Given the description of an element on the screen output the (x, y) to click on. 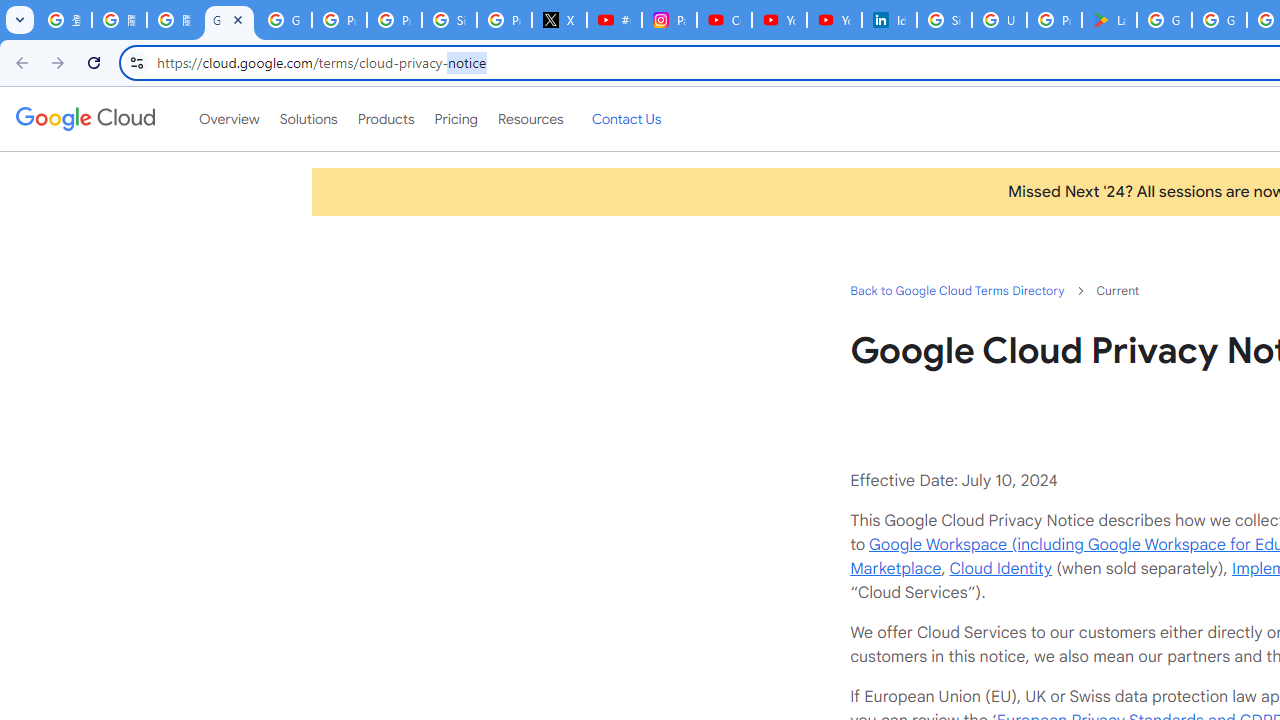
Sign in - Google Accounts (943, 20)
Resources (530, 119)
Google Cloud Privacy Notice (229, 20)
Google Workspace - Specific Terms (1218, 20)
#nbabasketballhighlights - YouTube (614, 20)
Products (385, 119)
